Given the description of an element on the screen output the (x, y) to click on. 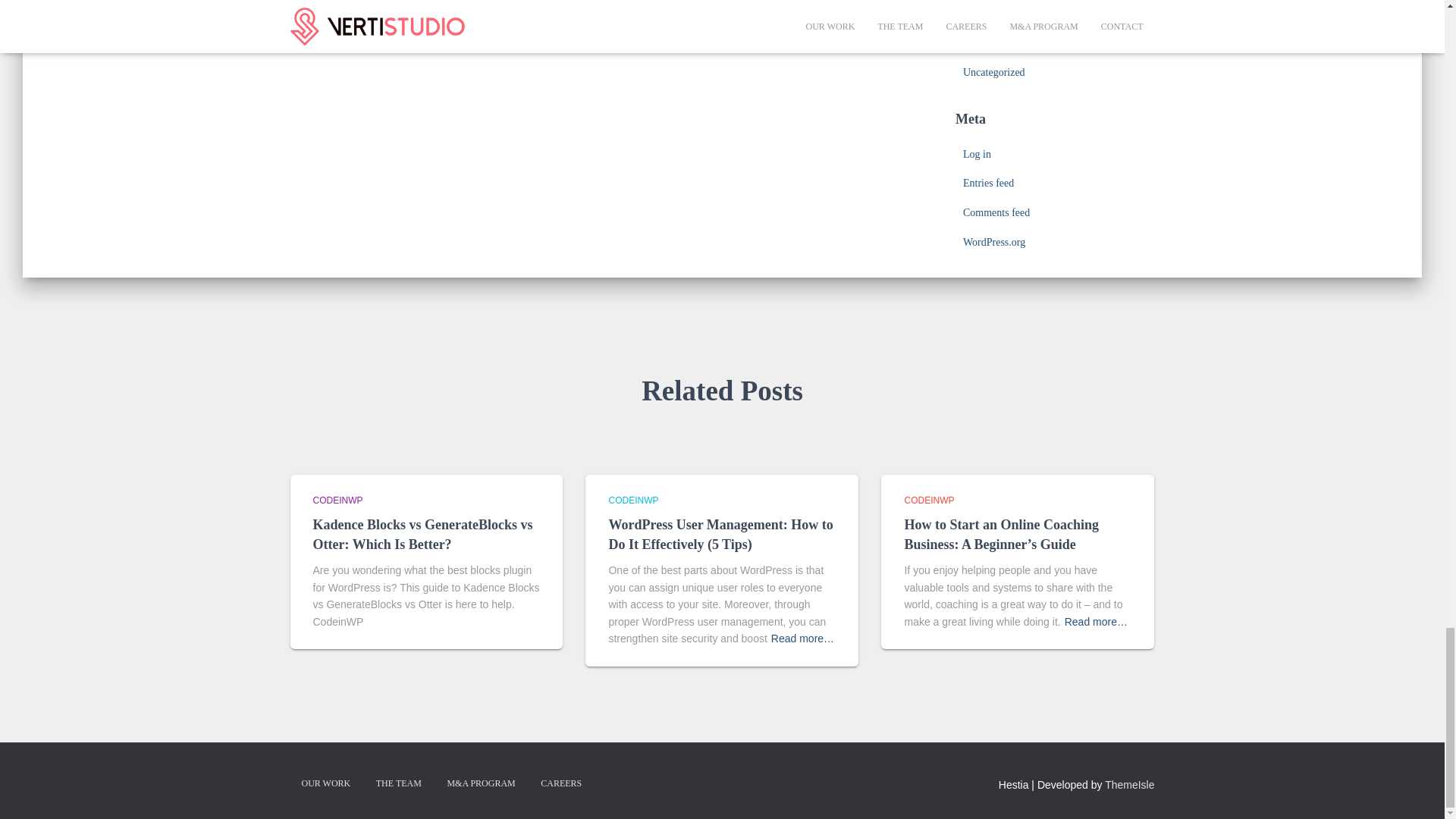
View all posts in CodeinWP (633, 500)
View all posts in CodeinWP (337, 500)
View all posts in CodeinWP (928, 500)
Kadence Blocks vs GenerateBlocks vs Otter: Which Is Better? (422, 533)
